Given the description of an element on the screen output the (x, y) to click on. 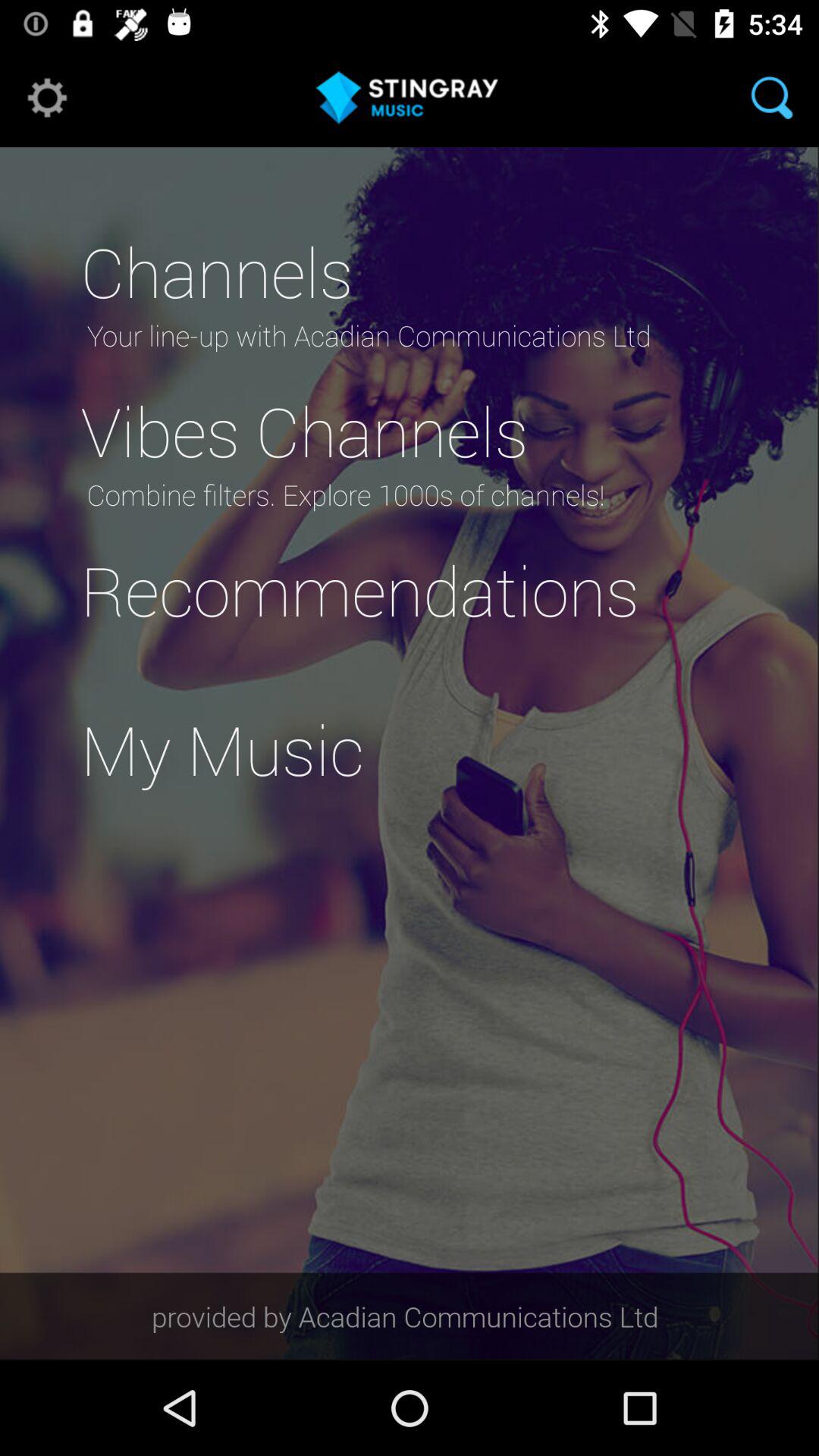
turn off icon above channels item (771, 97)
